Given the description of an element on the screen output the (x, y) to click on. 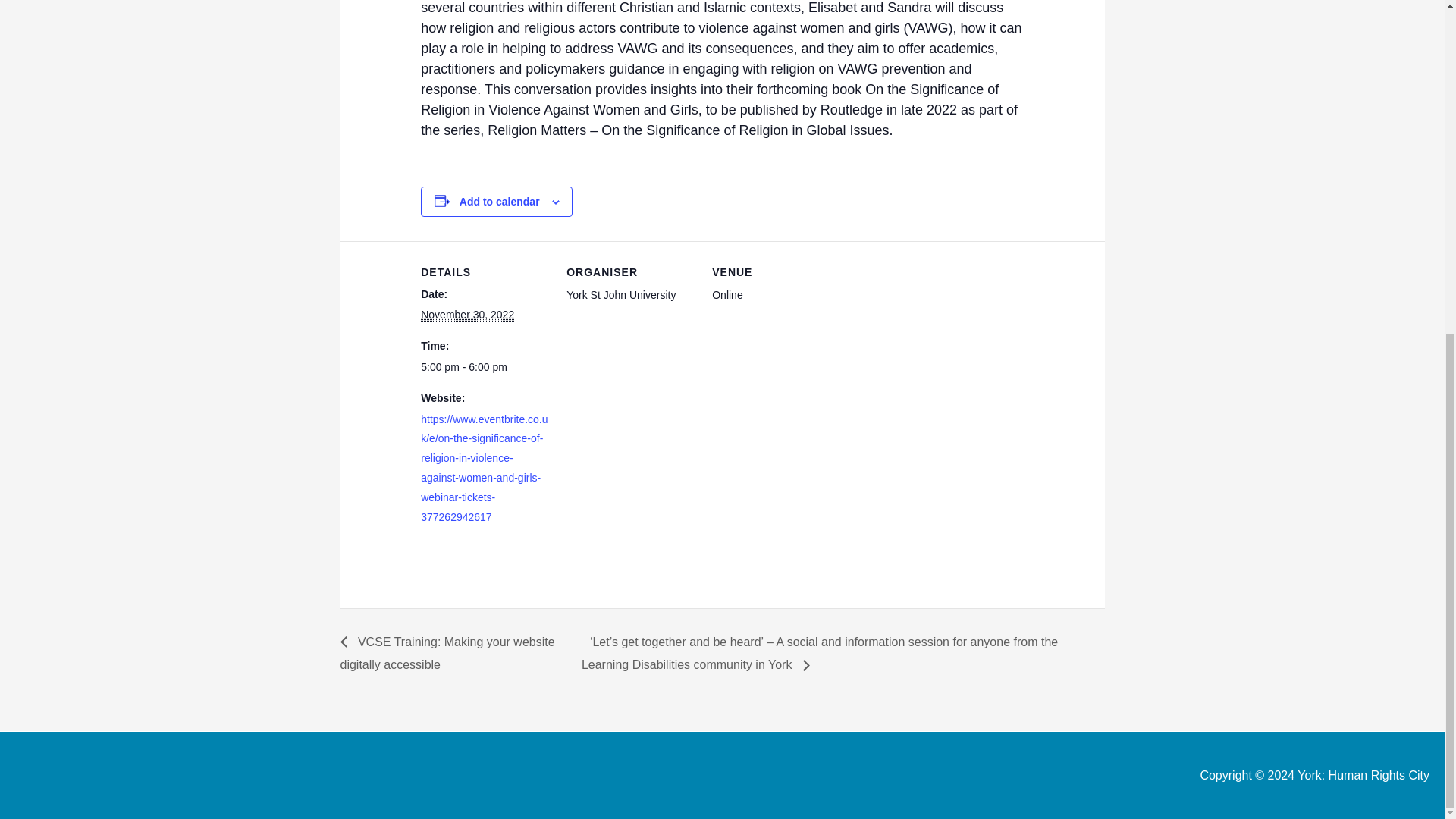
Add to calendar (500, 201)
VCSE Training: Making your website digitally accessible (446, 653)
2022-11-30 (484, 367)
2022-11-30 (466, 314)
